Given the description of an element on the screen output the (x, y) to click on. 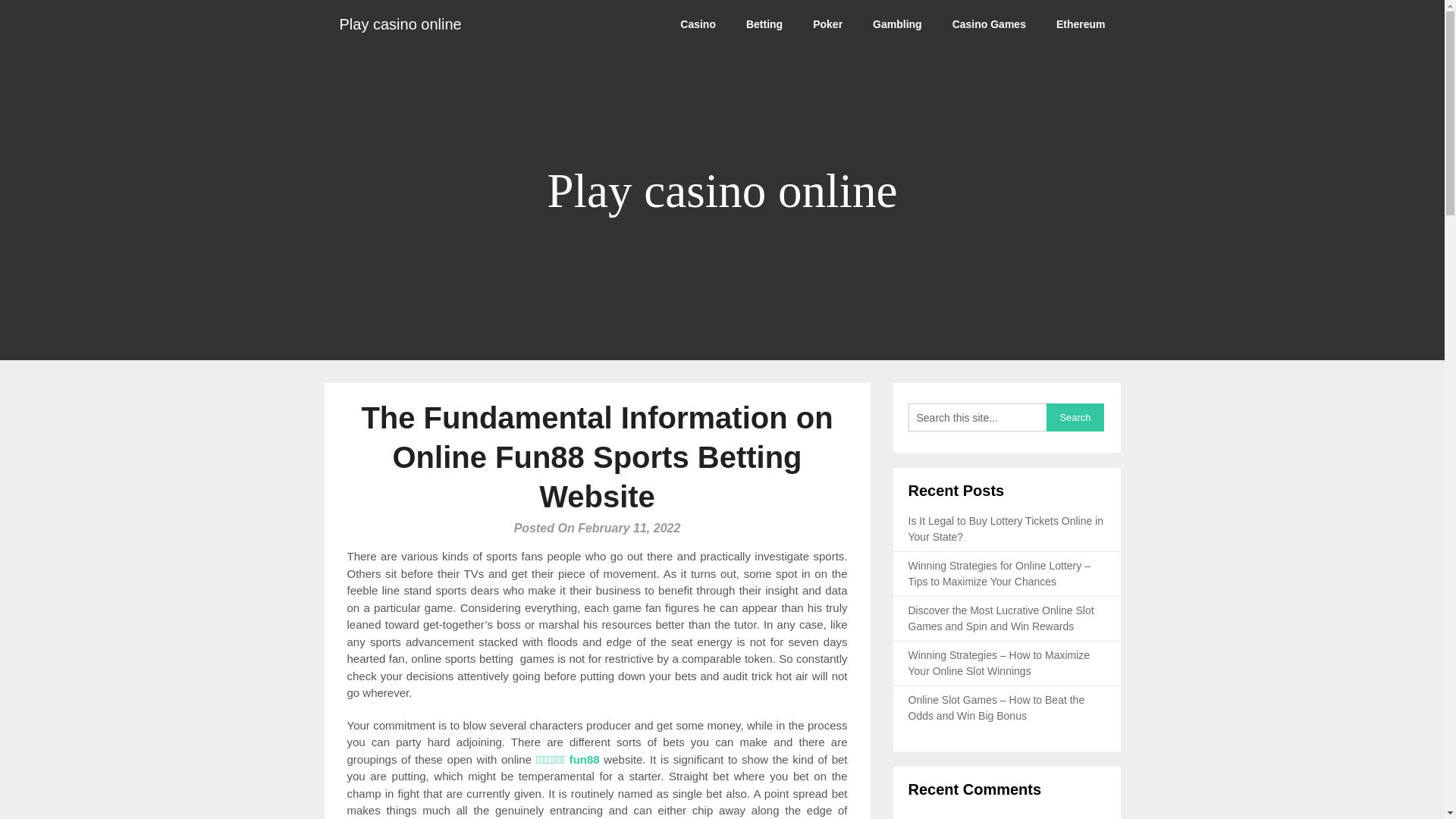
Casino Games (989, 24)
Search (1075, 417)
Poker (827, 24)
Search this site... (977, 417)
Ethereum (1081, 24)
Search (1075, 417)
Gambling (897, 24)
Is It Legal to Buy Lottery Tickets Online in Your State? (1005, 528)
Betting (763, 24)
